Given the description of an element on the screen output the (x, y) to click on. 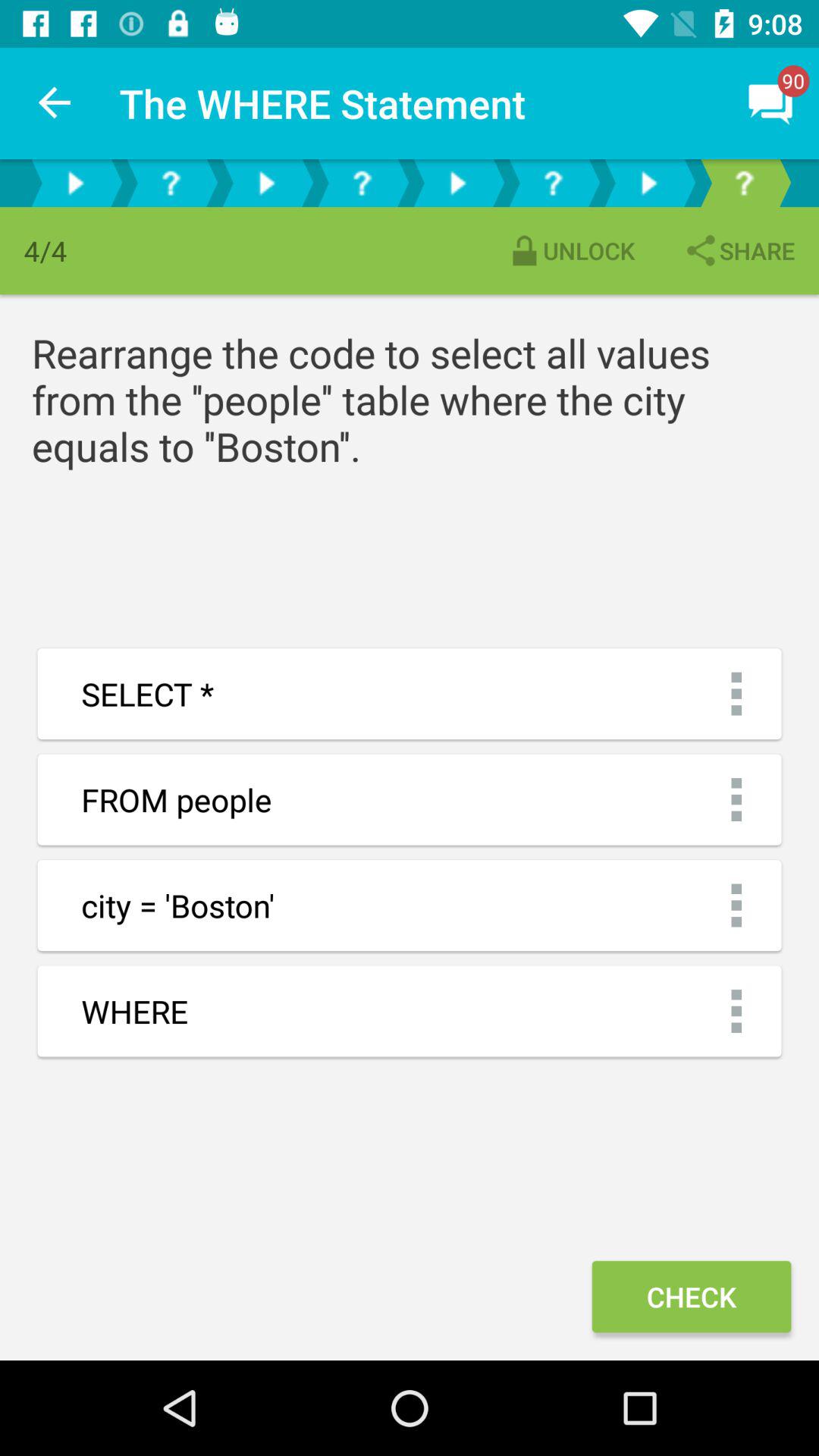
choose the item to the left of the where statement icon (55, 103)
